Given the description of an element on the screen output the (x, y) to click on. 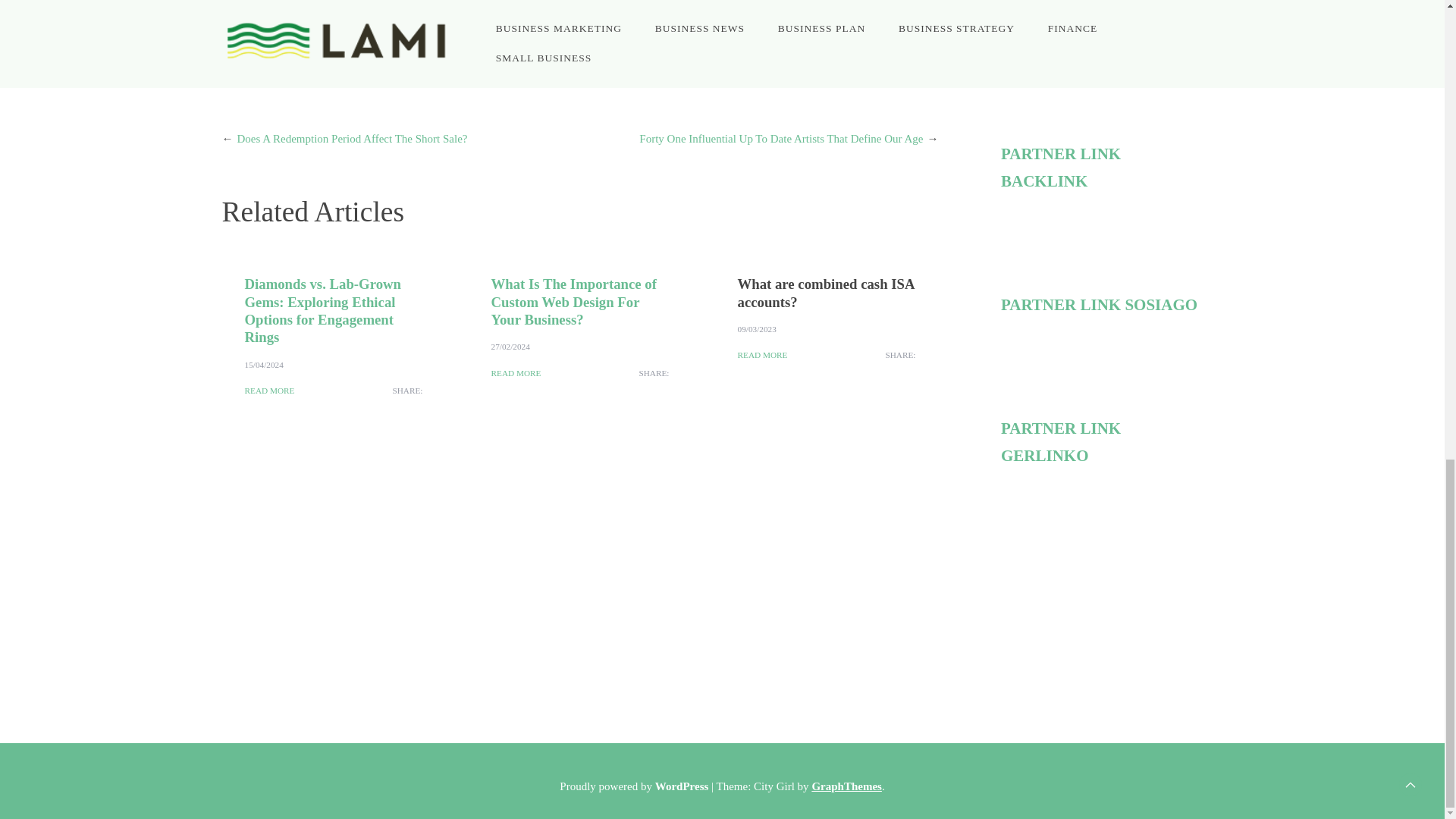
READ MORE (761, 355)
READ MORE (516, 373)
Does A Redemption Period Affect The Short Sale? (351, 138)
READ MORE (269, 391)
Forty One Influential Up To Date Artists That Define Our Age (781, 138)
